Given the description of an element on the screen output the (x, y) to click on. 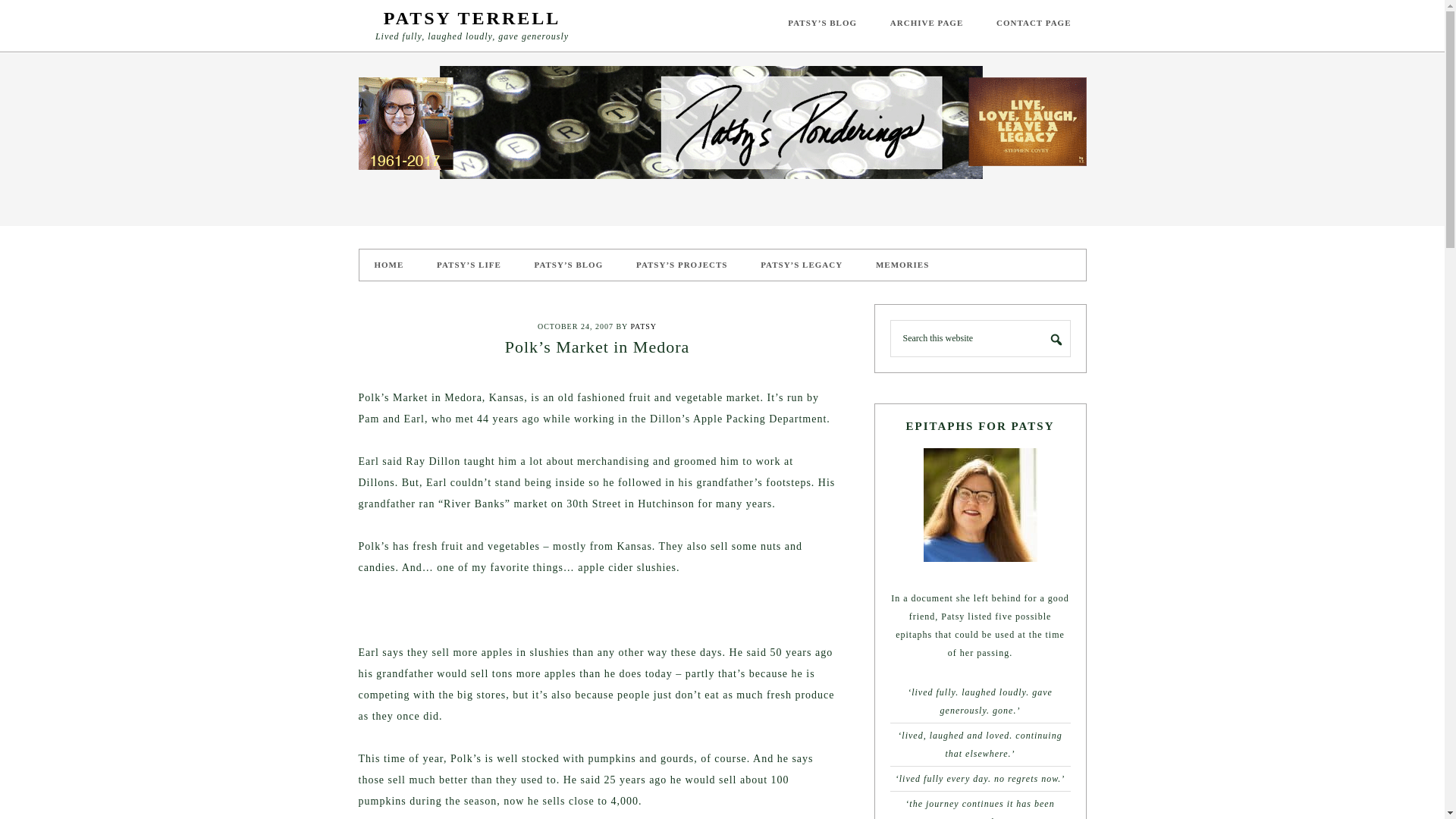
ARCHIVE PAGE (926, 22)
HOME (389, 264)
MEMORIES (901, 264)
PATSY (643, 326)
CONTACT PAGE (1033, 22)
PATSY TERRELL (472, 17)
